Given the description of an element on the screen output the (x, y) to click on. 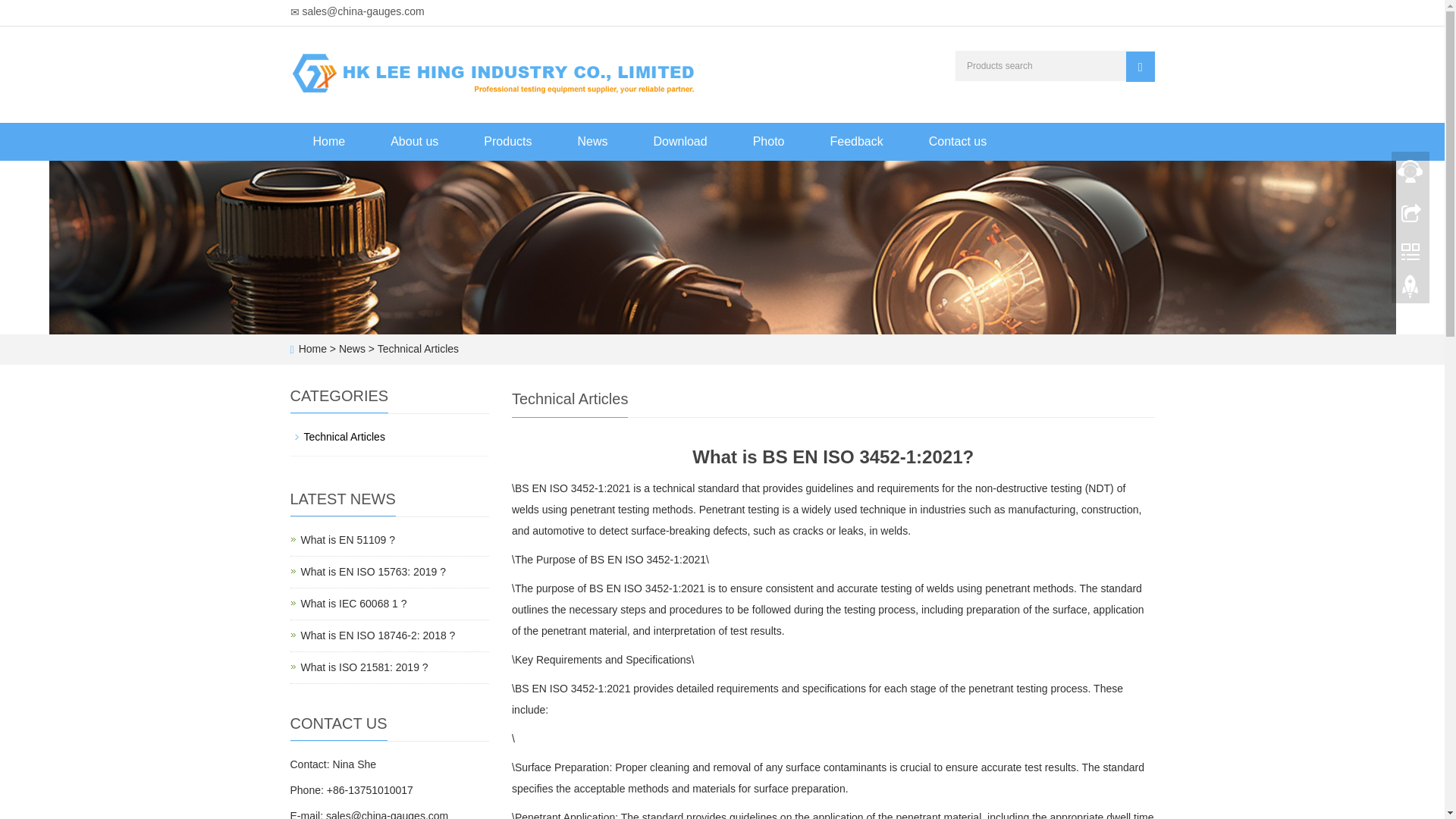
Products (376, 635)
Products search (507, 141)
Technical Articles (1139, 66)
News (416, 348)
Photo (363, 666)
News (352, 603)
